Given the description of an element on the screen output the (x, y) to click on. 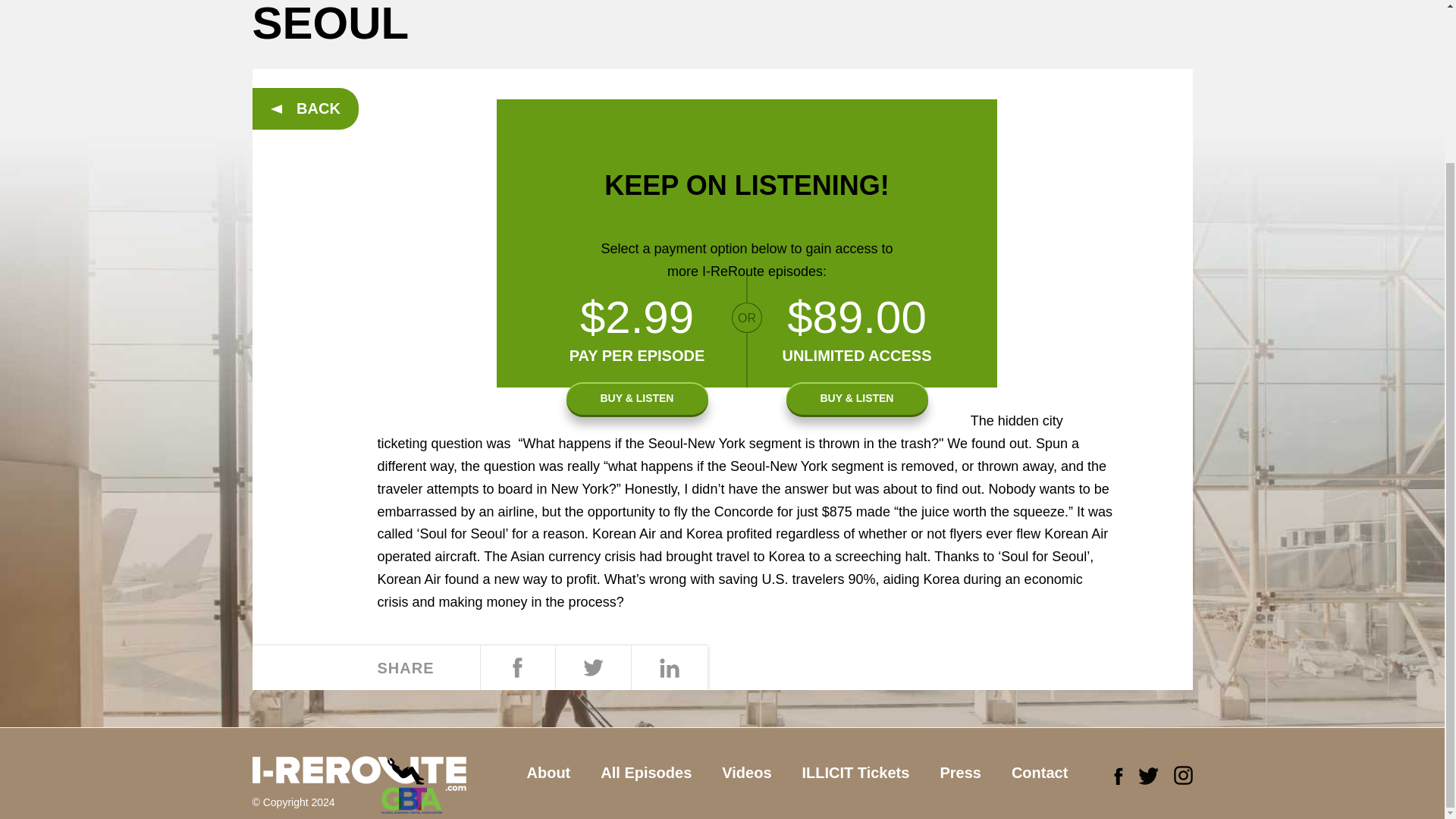
Tweet (592, 668)
Videos (746, 772)
Press (959, 772)
Share (668, 668)
ILLICIT Tickets (855, 772)
Share (516, 668)
Contact (1039, 772)
About (548, 772)
All Episodes (645, 772)
